Given the description of an element on the screen output the (x, y) to click on. 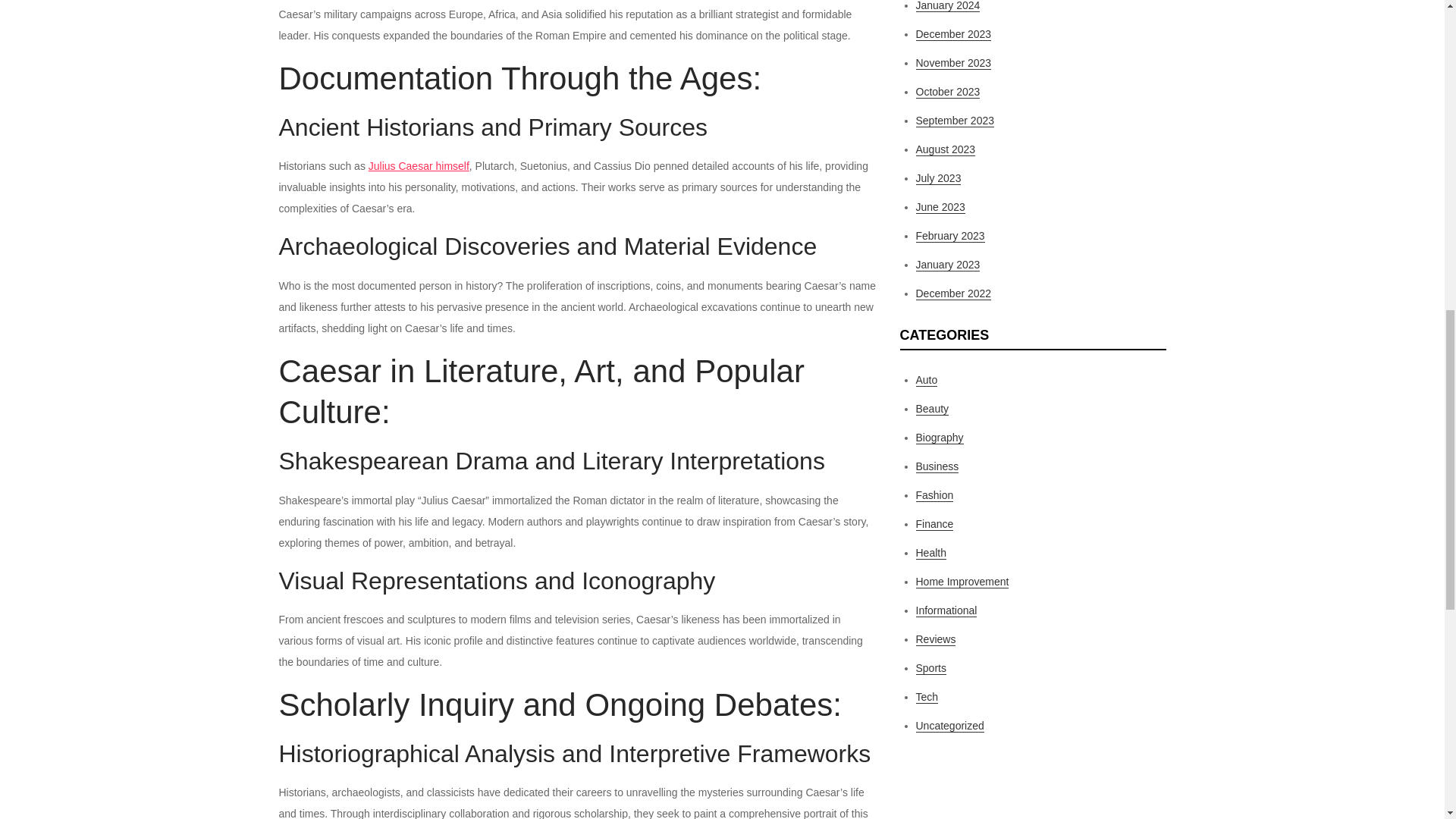
Auto (926, 379)
September 2023 (954, 120)
October 2023 (947, 91)
August 2023 (945, 149)
January 2024 (947, 6)
Julius Caesar himself (418, 165)
February 2023 (950, 236)
November 2023 (953, 62)
June 2023 (940, 206)
December 2023 (953, 33)
